Given the description of an element on the screen output the (x, y) to click on. 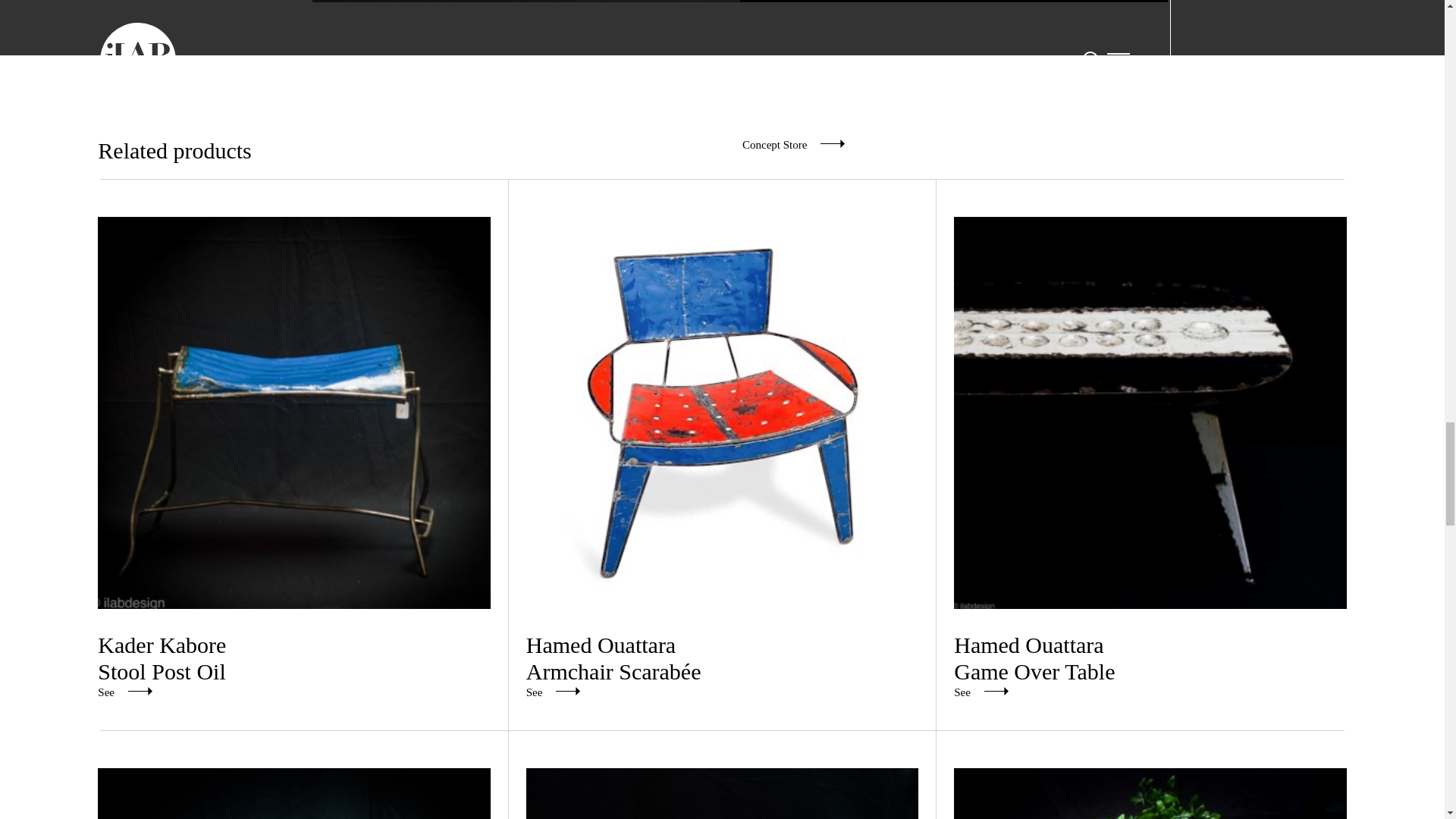
Concept Store (1149, 793)
